Given the description of an element on the screen output the (x, y) to click on. 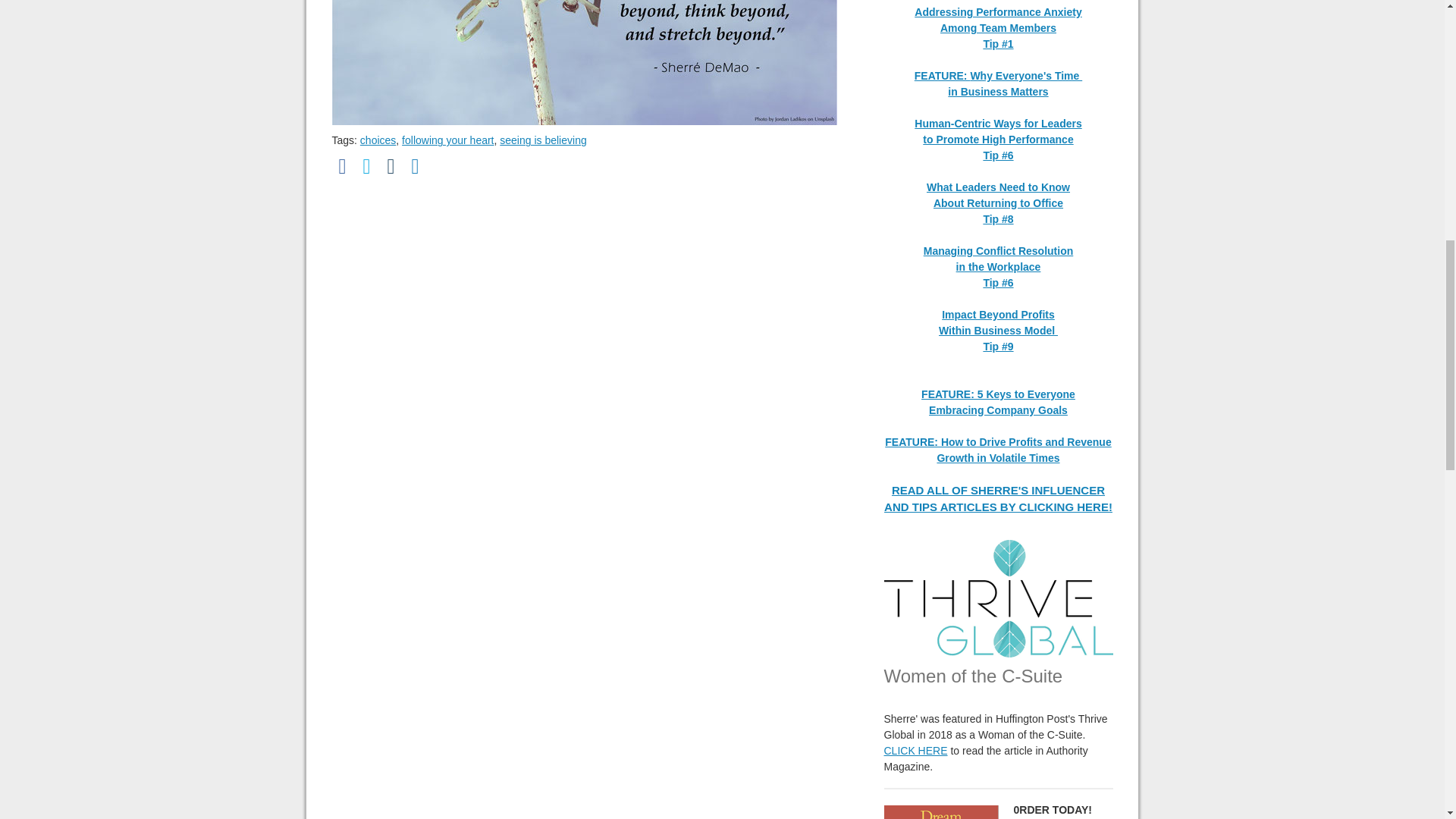
Email (390, 166)
Twitter (366, 166)
Facebook (342, 166)
choices (377, 140)
seeing is believing (542, 140)
following your heart (447, 140)
LinkedIn (415, 166)
